Given the description of an element on the screen output the (x, y) to click on. 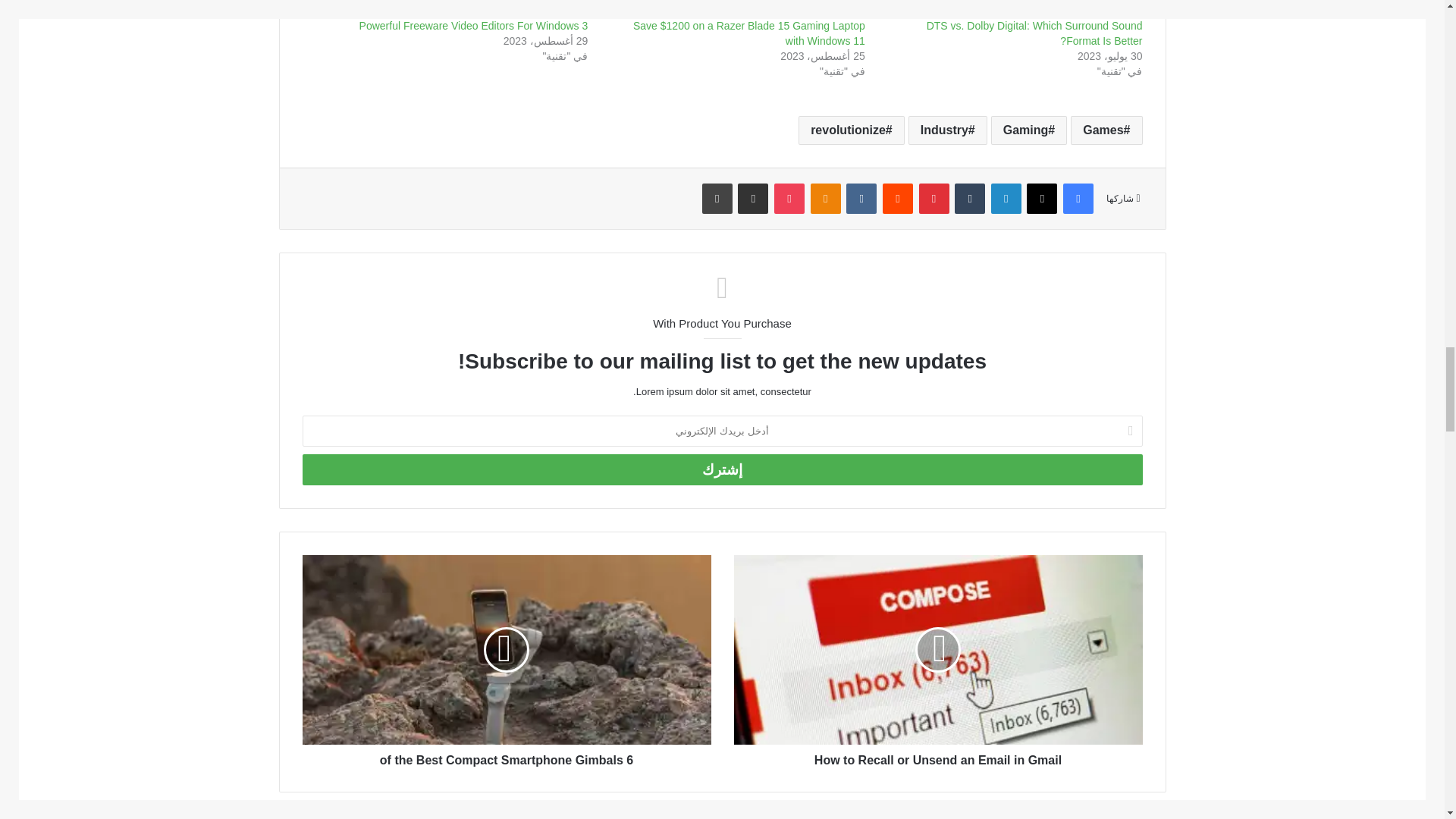
Gaming (1029, 130)
Industry (947, 130)
3 Powerful Freeware Video Editors For Windows (473, 25)
Games (1105, 130)
revolutionize (850, 130)
